Given the description of an element on the screen output the (x, y) to click on. 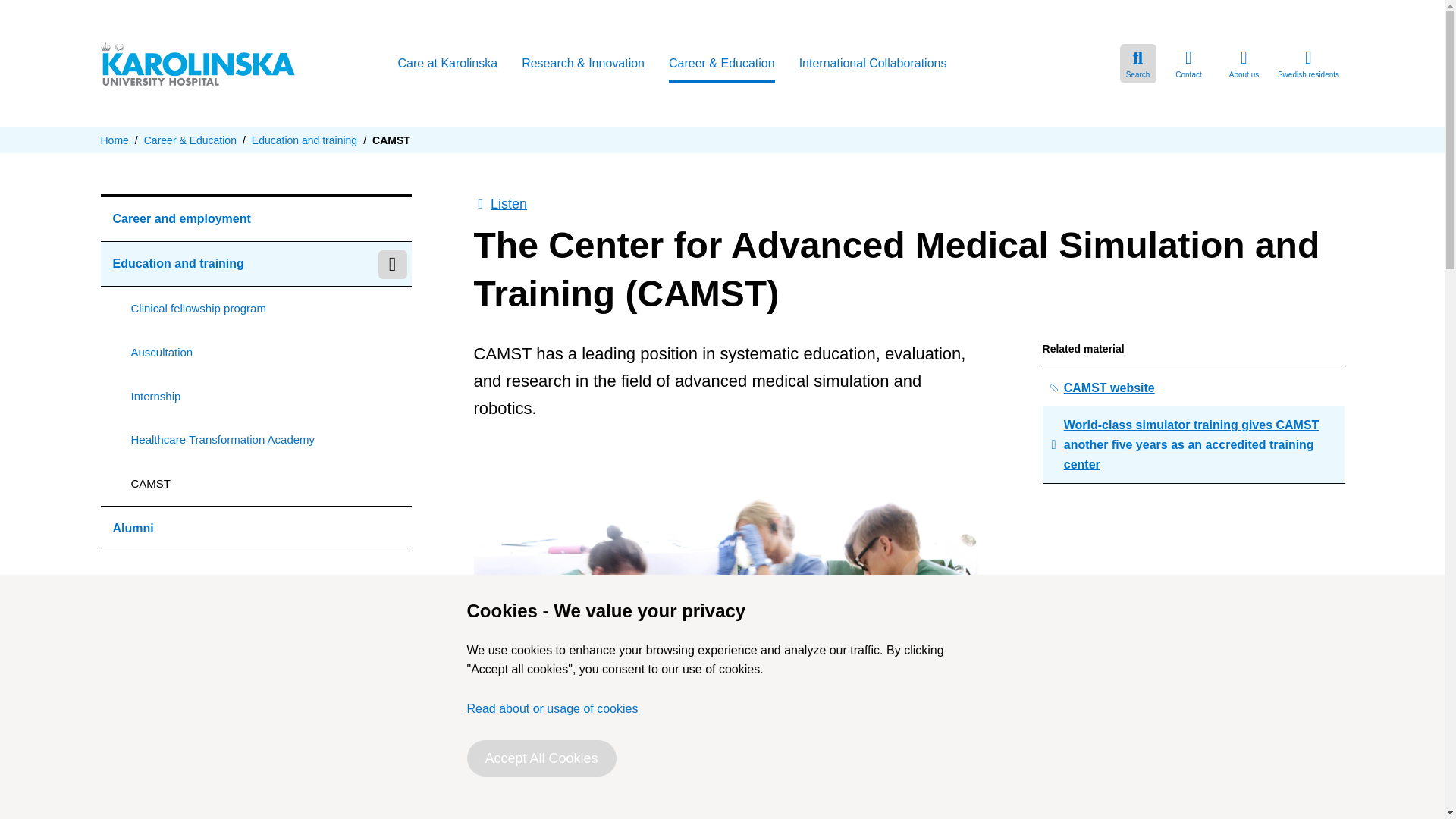
International Collaborations (873, 64)
Swedish residents (1307, 63)
Contact (1187, 63)
Search (1137, 63)
About us (1243, 63)
Care at Karolinska (447, 64)
